Given the description of an element on the screen output the (x, y) to click on. 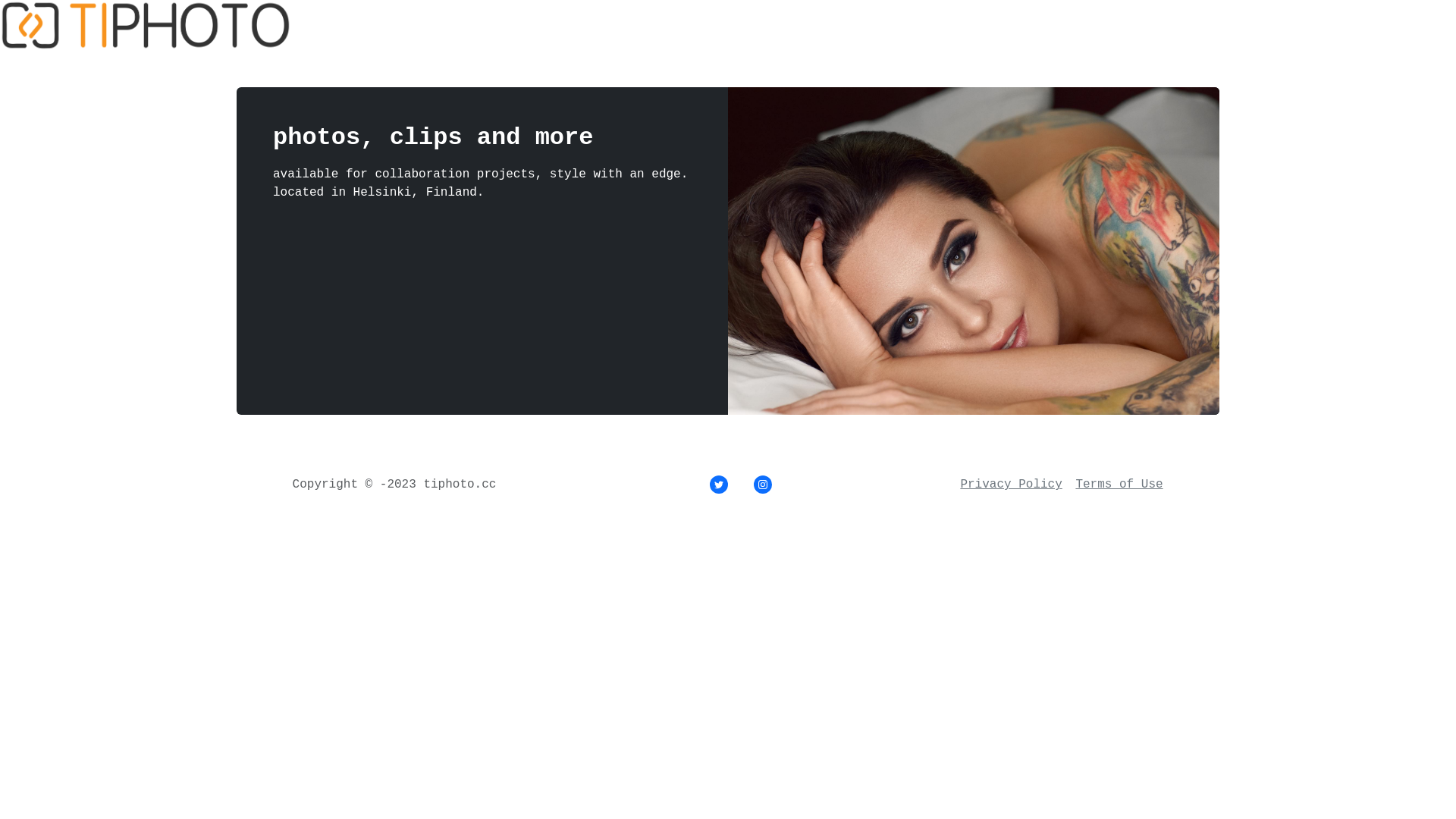
Terms of Use Element type: text (1118, 484)
Privacy Policy Element type: text (1010, 484)
